Given the description of an element on the screen output the (x, y) to click on. 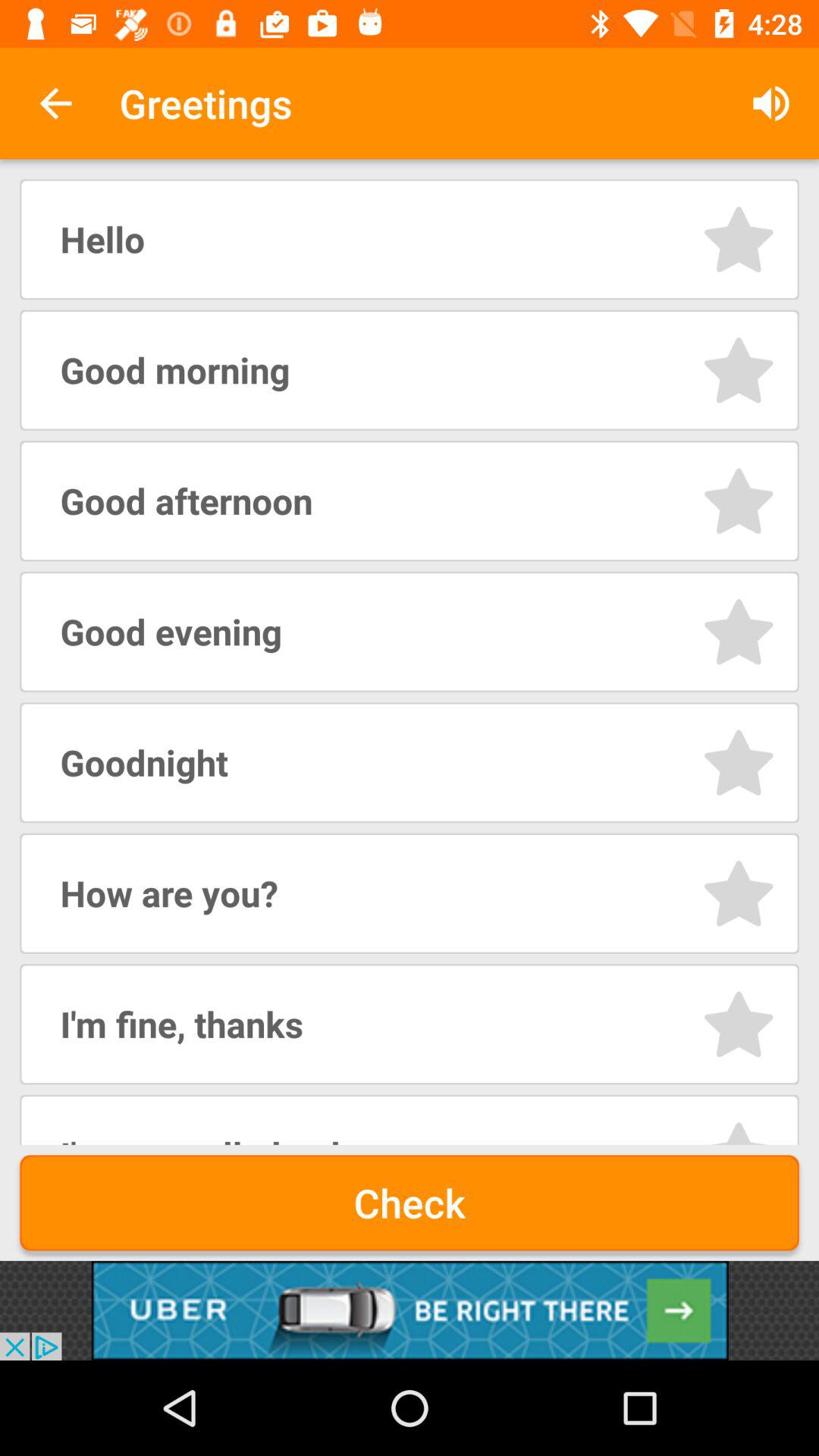
go to rating (738, 1131)
